Given the description of an element on the screen output the (x, y) to click on. 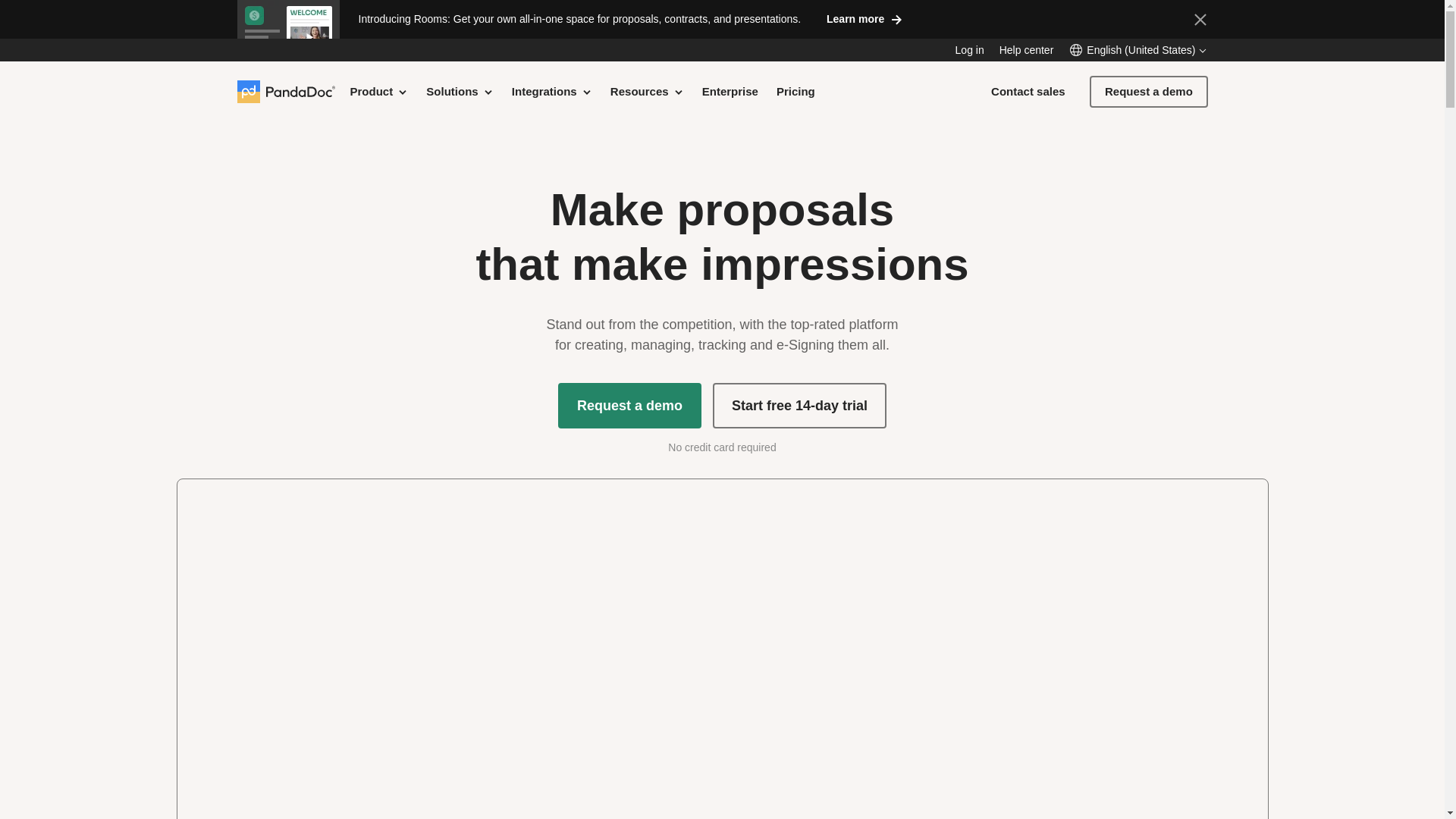
Learn more (864, 18)
Help center (1026, 50)
Log in (969, 50)
Product (379, 91)
Solutions (459, 91)
